Given the description of an element on the screen output the (x, y) to click on. 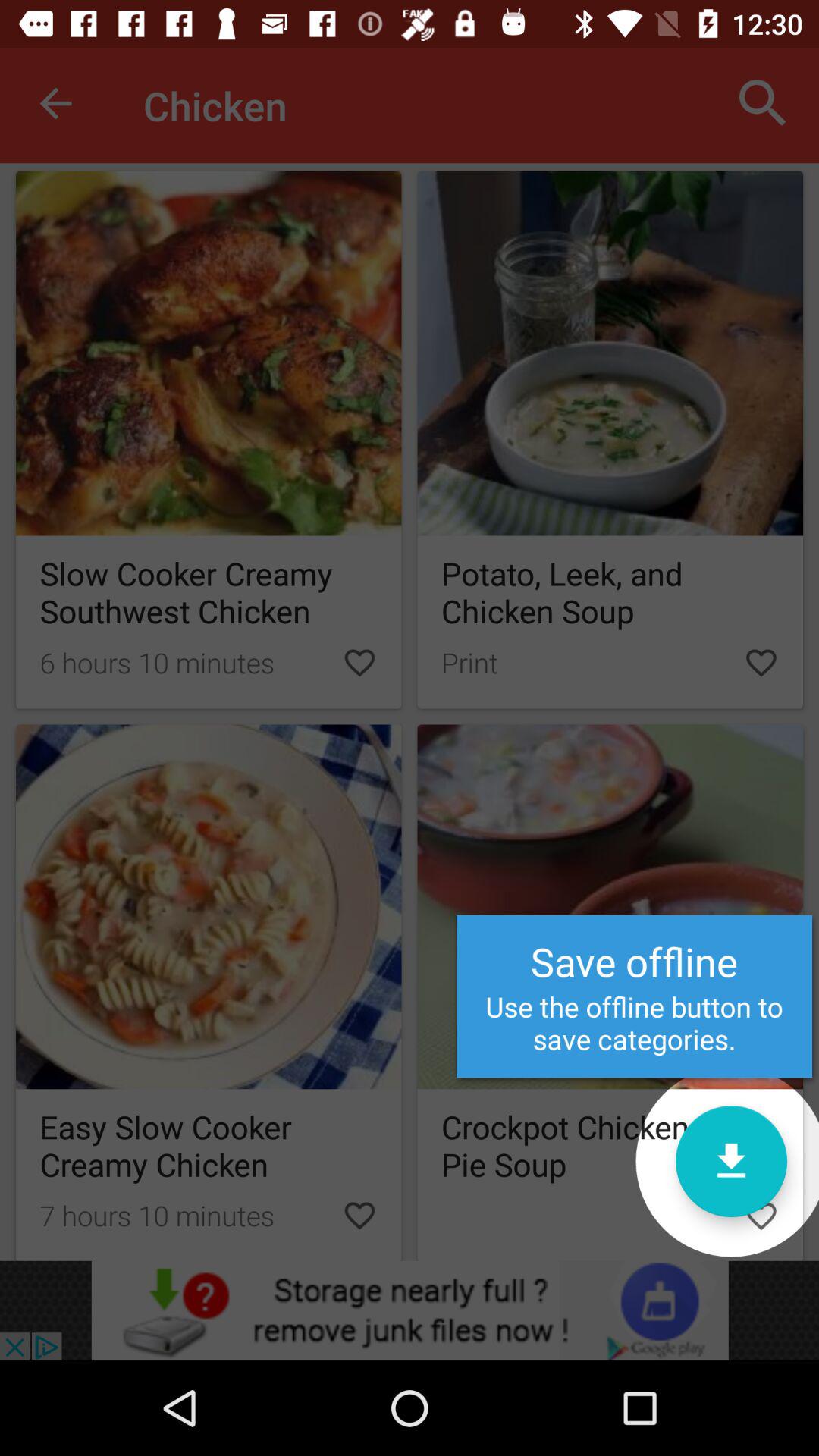
select 4th picture (208, 992)
select the first picture (208, 440)
click on save offline (610, 992)
select first image of the first row (208, 353)
